Given the description of an element on the screen output the (x, y) to click on. 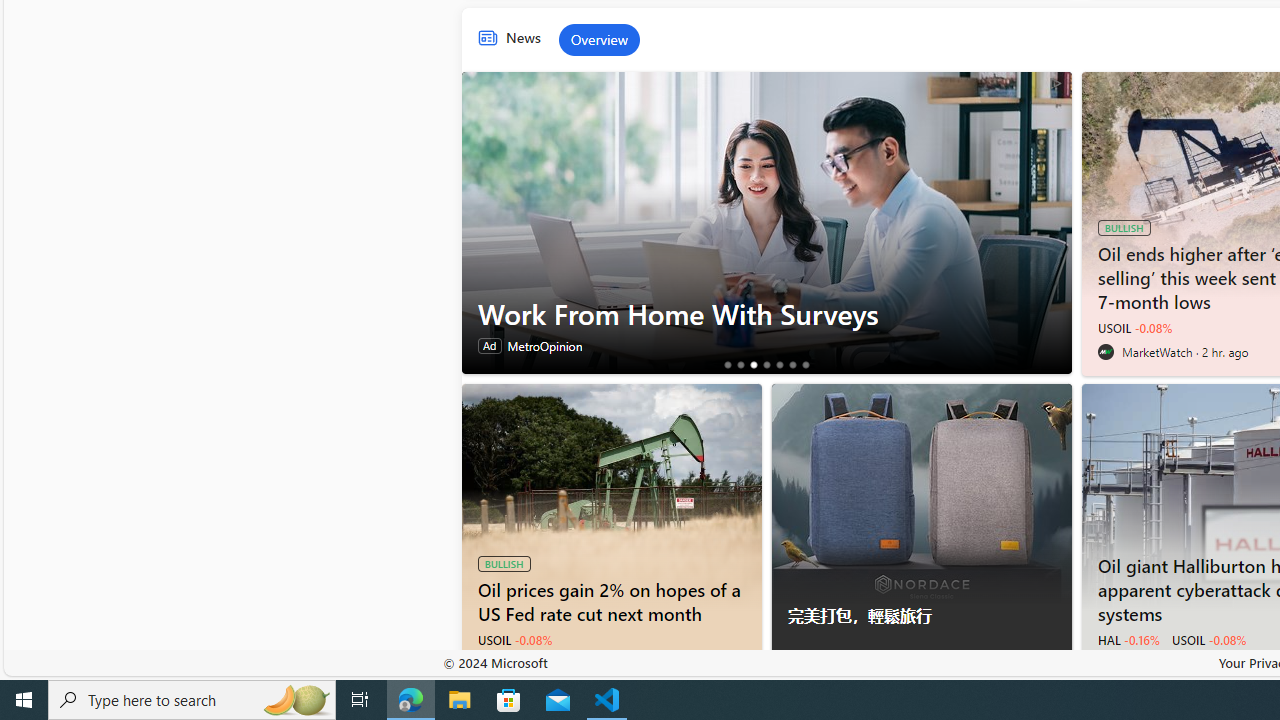
Work From Home With Surveys (766, 313)
Reuters (485, 663)
Overview (599, 39)
AdChoices (1055, 667)
AdChoices (1055, 667)
